Given the description of an element on the screen output the (x, y) to click on. 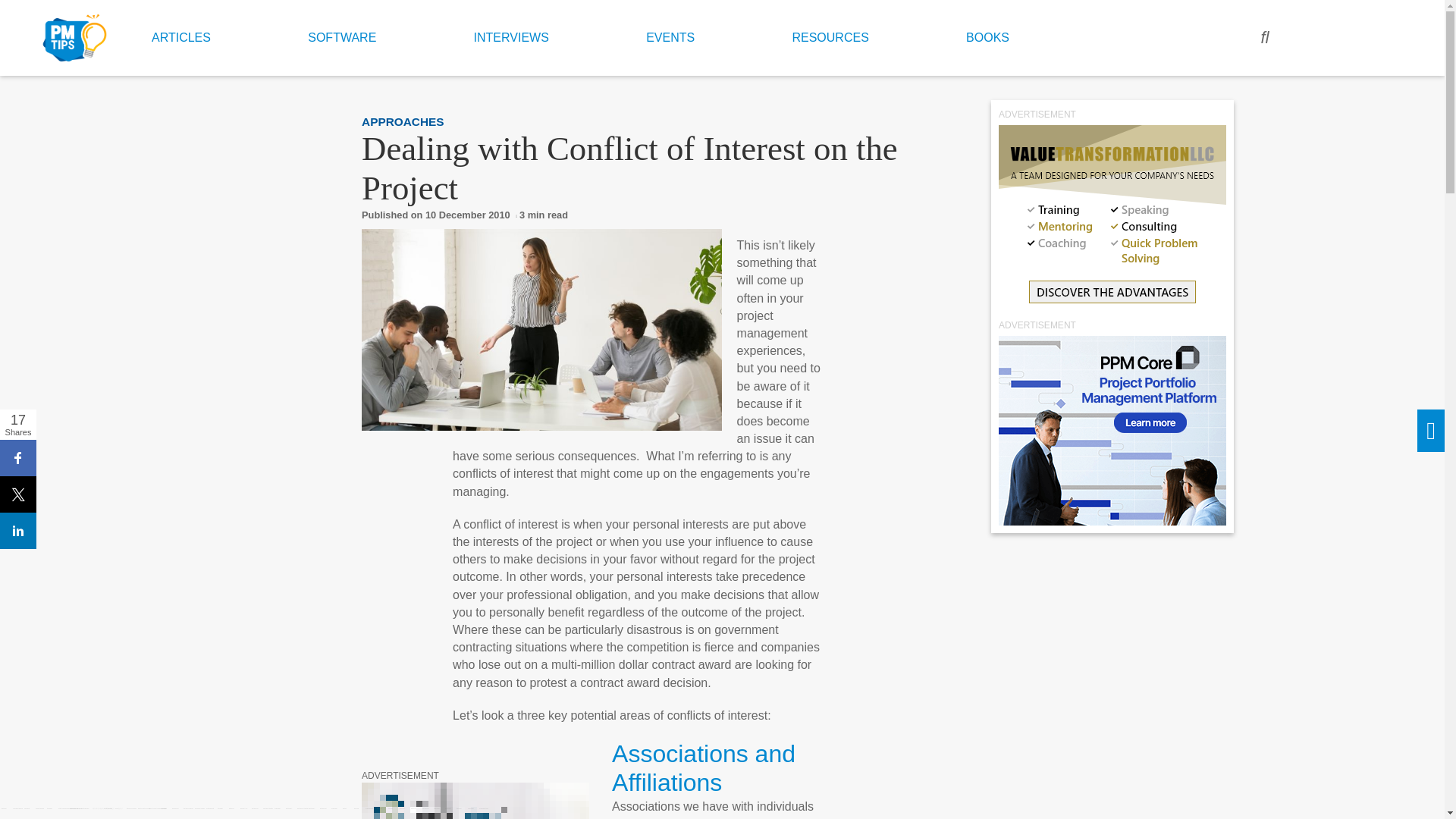
BOOKS (987, 36)
RESOURCES (829, 36)
INTERVIEWS (511, 36)
PM Tips (75, 38)
SOFTWARE (341, 36)
EVENTS (670, 36)
ARTICLES (181, 36)
APPROACHES (402, 121)
